Given the description of an element on the screen output the (x, y) to click on. 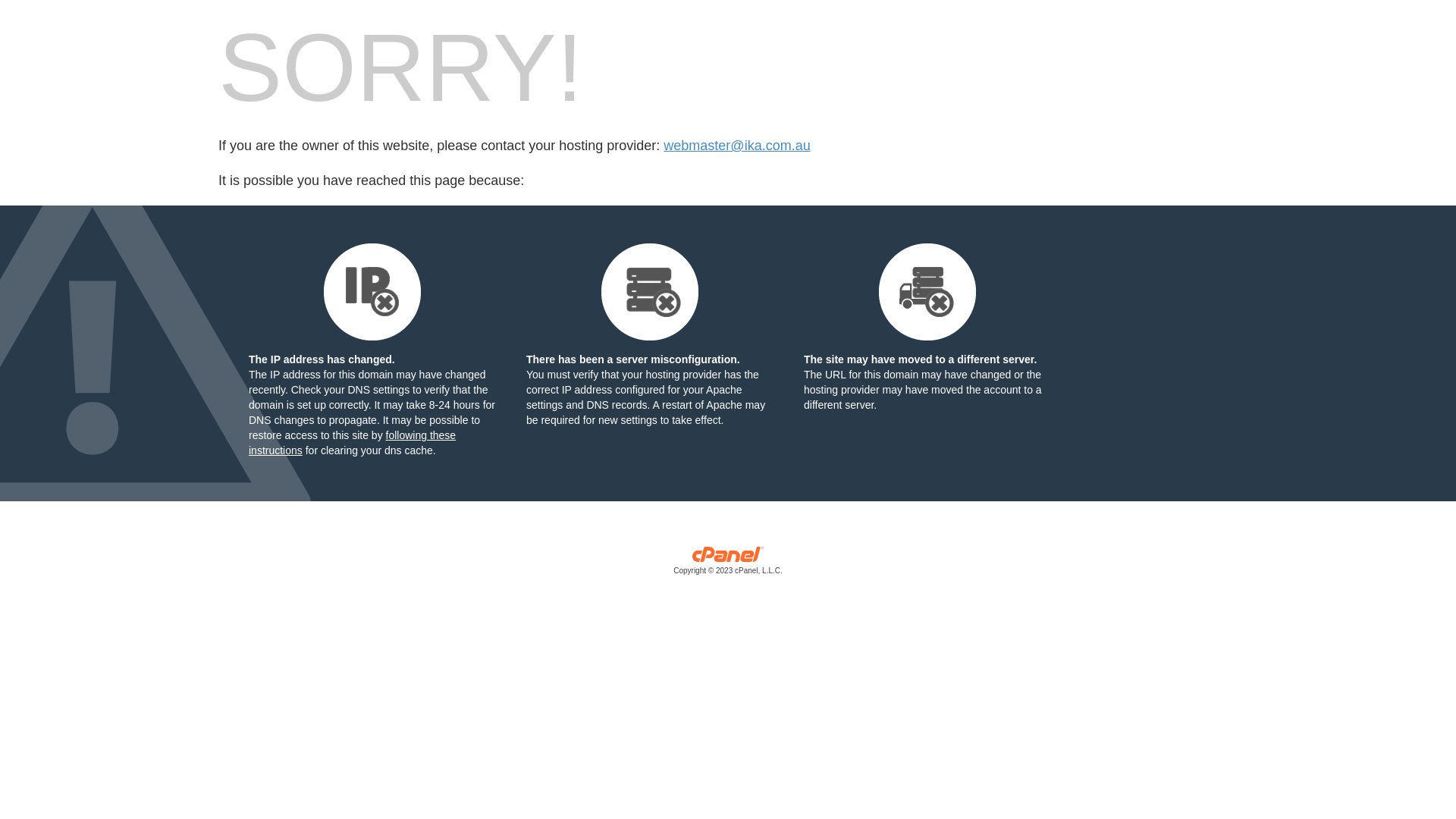
following these instructions Element type: text (351, 442)
webmaster@ika.com.au Element type: text (736, 145)
